Given the description of an element on the screen output the (x, y) to click on. 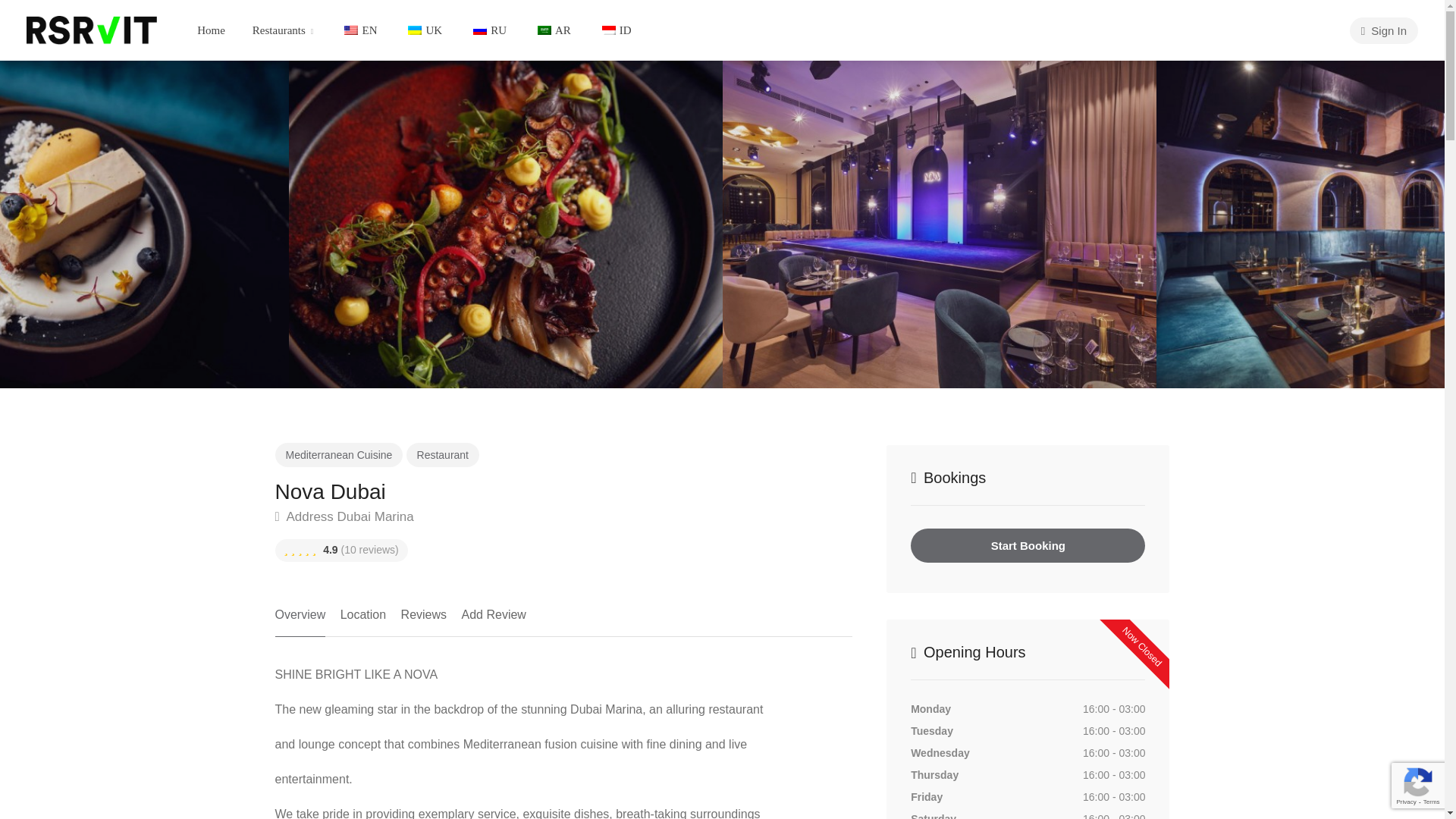
EN (358, 30)
Sign In (1383, 30)
Arabic (544, 30)
RSRVIT (91, 29)
Home (210, 30)
Indonesian (608, 30)
AR (552, 30)
RU (488, 30)
English (350, 30)
UK (422, 30)
Ukrainian (414, 30)
Restaurants (282, 30)
Russian (479, 30)
ID (614, 30)
